Given the description of an element on the screen output the (x, y) to click on. 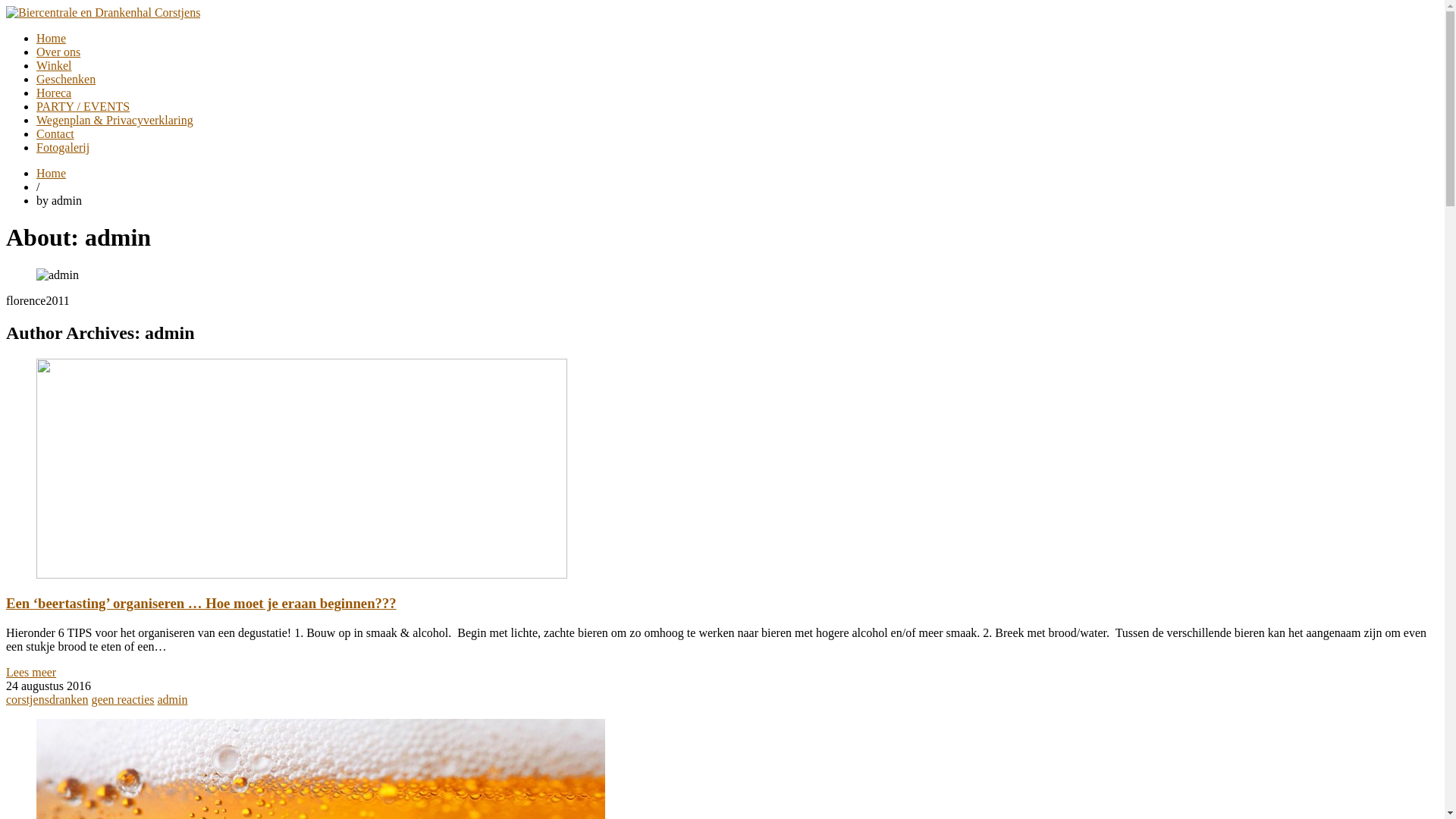
corstjensdranken Element type: text (46, 699)
Winkel Element type: text (53, 65)
Horeca Element type: text (53, 92)
Biercentrale en Drankenhal Corstjens Element type: hover (103, 12)
Wegenplan & Privacyverklaring Element type: text (114, 119)
Over ons Element type: text (58, 51)
PARTY / EVENTS Element type: text (82, 106)
geen reacties Element type: text (122, 699)
Geschenken Element type: text (65, 78)
Home Element type: text (50, 37)
Lees meer Element type: text (31, 671)
Home Element type: text (50, 172)
admin Element type: text (171, 699)
Fotogalerij Element type: text (62, 147)
Contact Element type: text (55, 133)
